Given the description of an element on the screen output the (x, y) to click on. 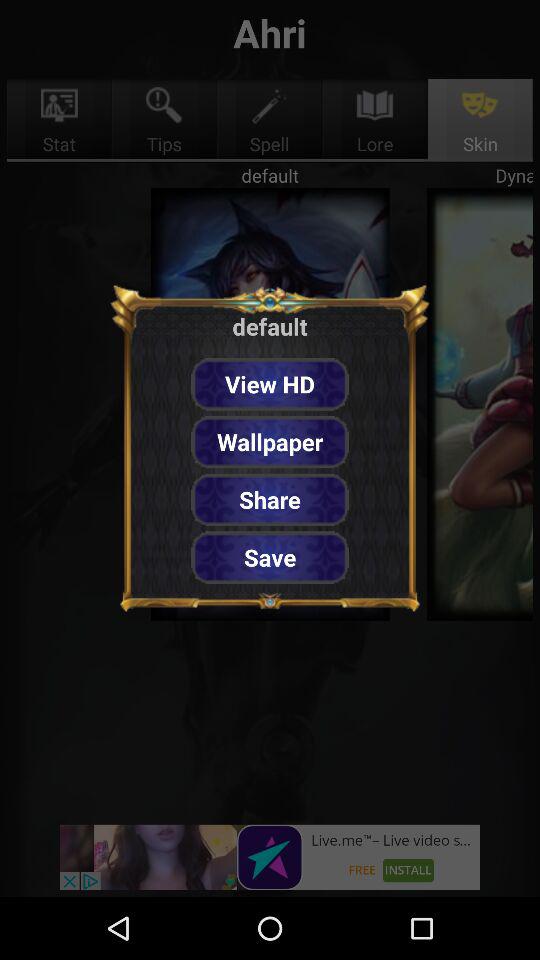
turn on the icon above the save button (269, 499)
